Given the description of an element on the screen output the (x, y) to click on. 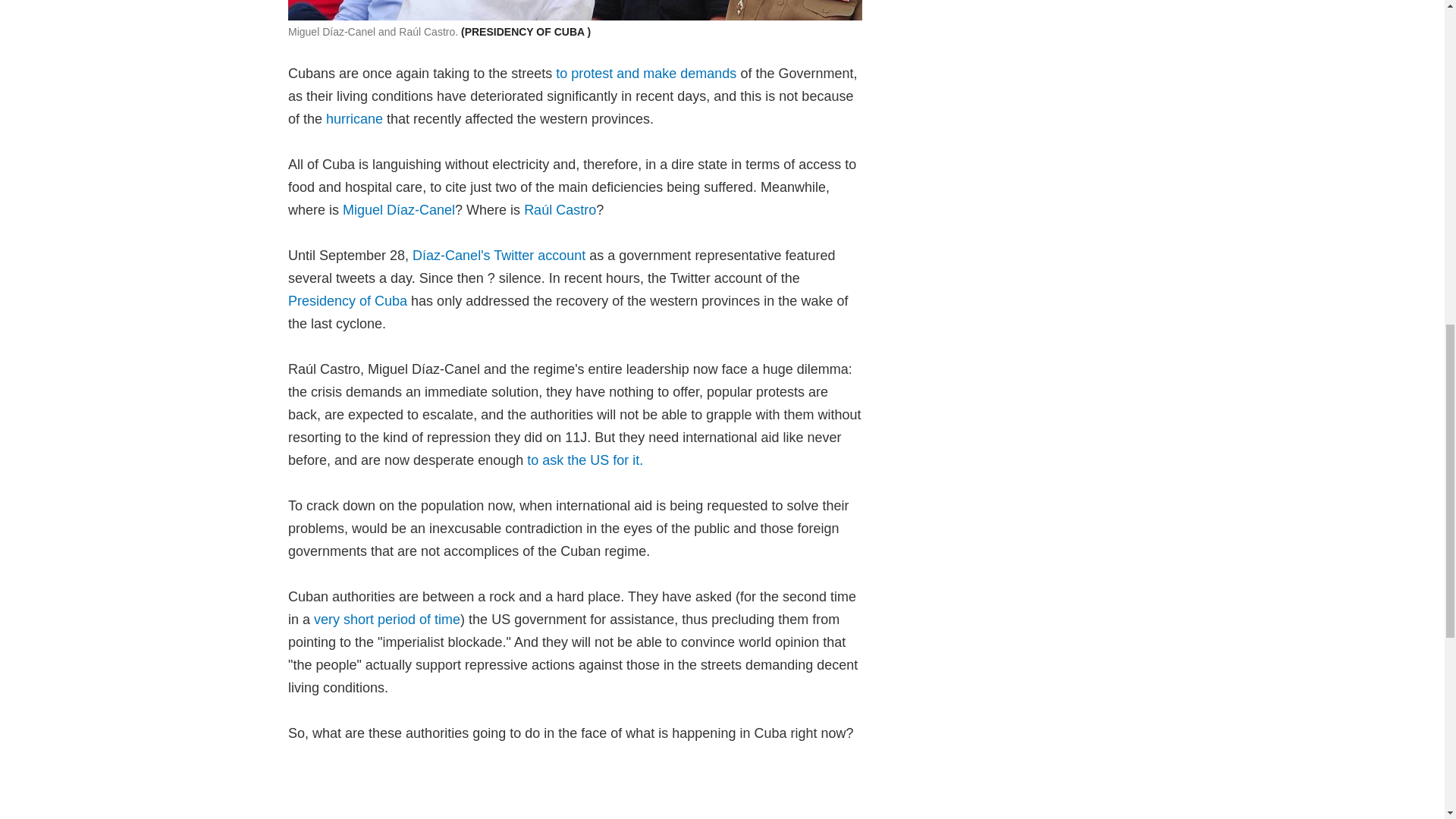
hurricane (356, 118)
very short period of time (387, 619)
to ask the US for it. (585, 459)
Presidency of Cuba (347, 300)
to protest and make demands (646, 73)
